Given the description of an element on the screen output the (x, y) to click on. 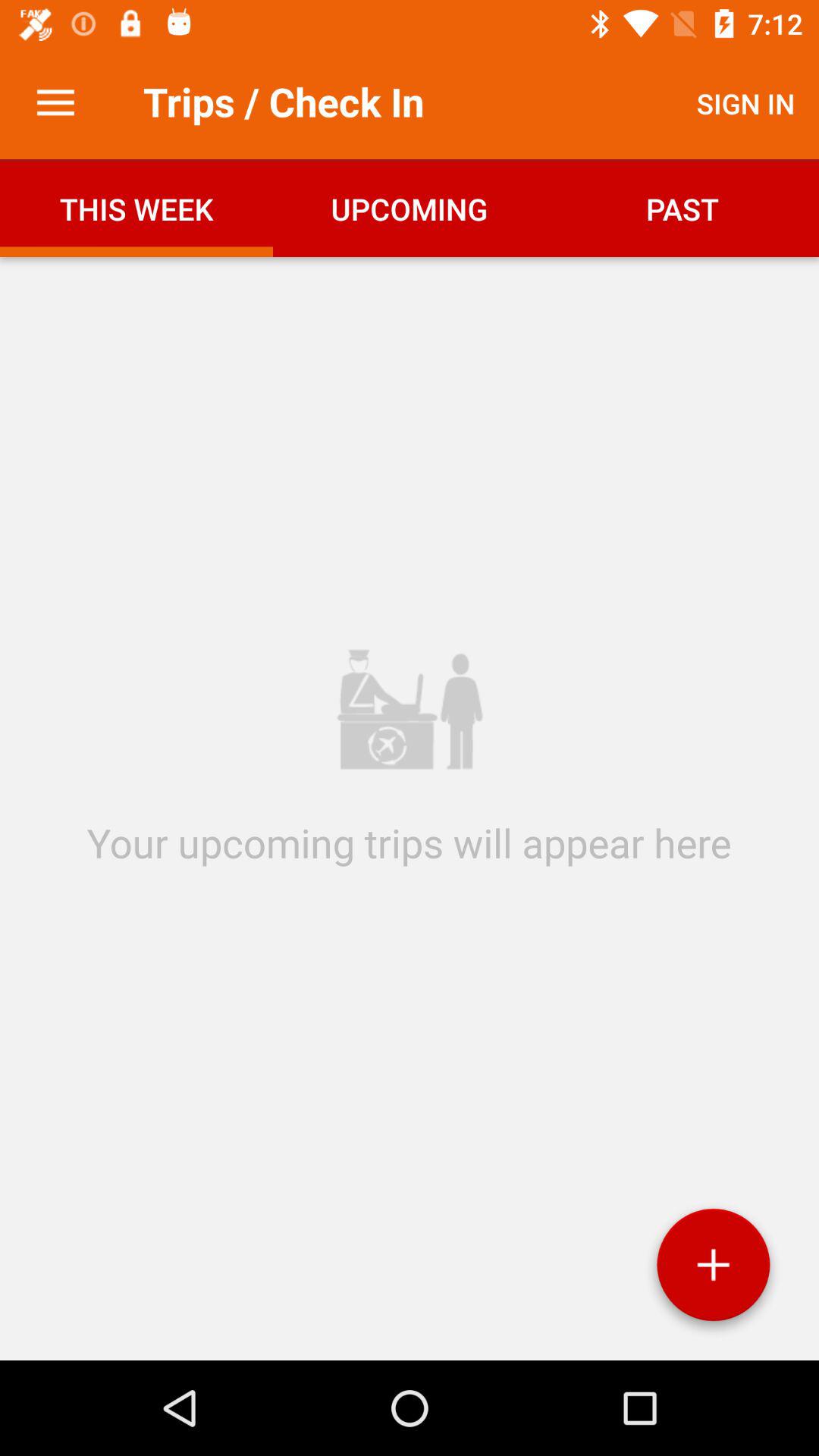
make an addition (713, 1270)
